Given the description of an element on the screen output the (x, y) to click on. 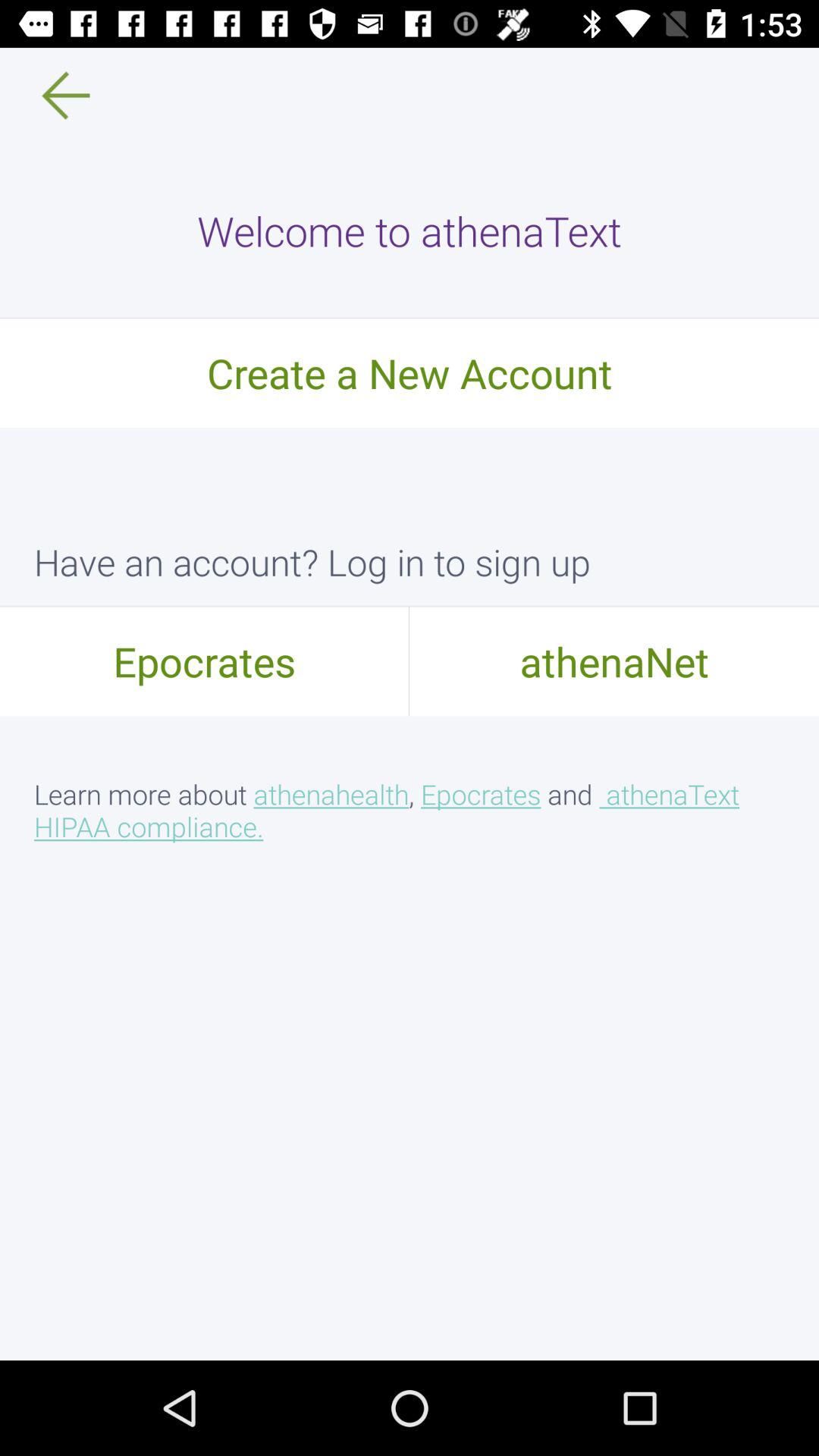
flip to learn more about (409, 810)
